Given the description of an element on the screen output the (x, y) to click on. 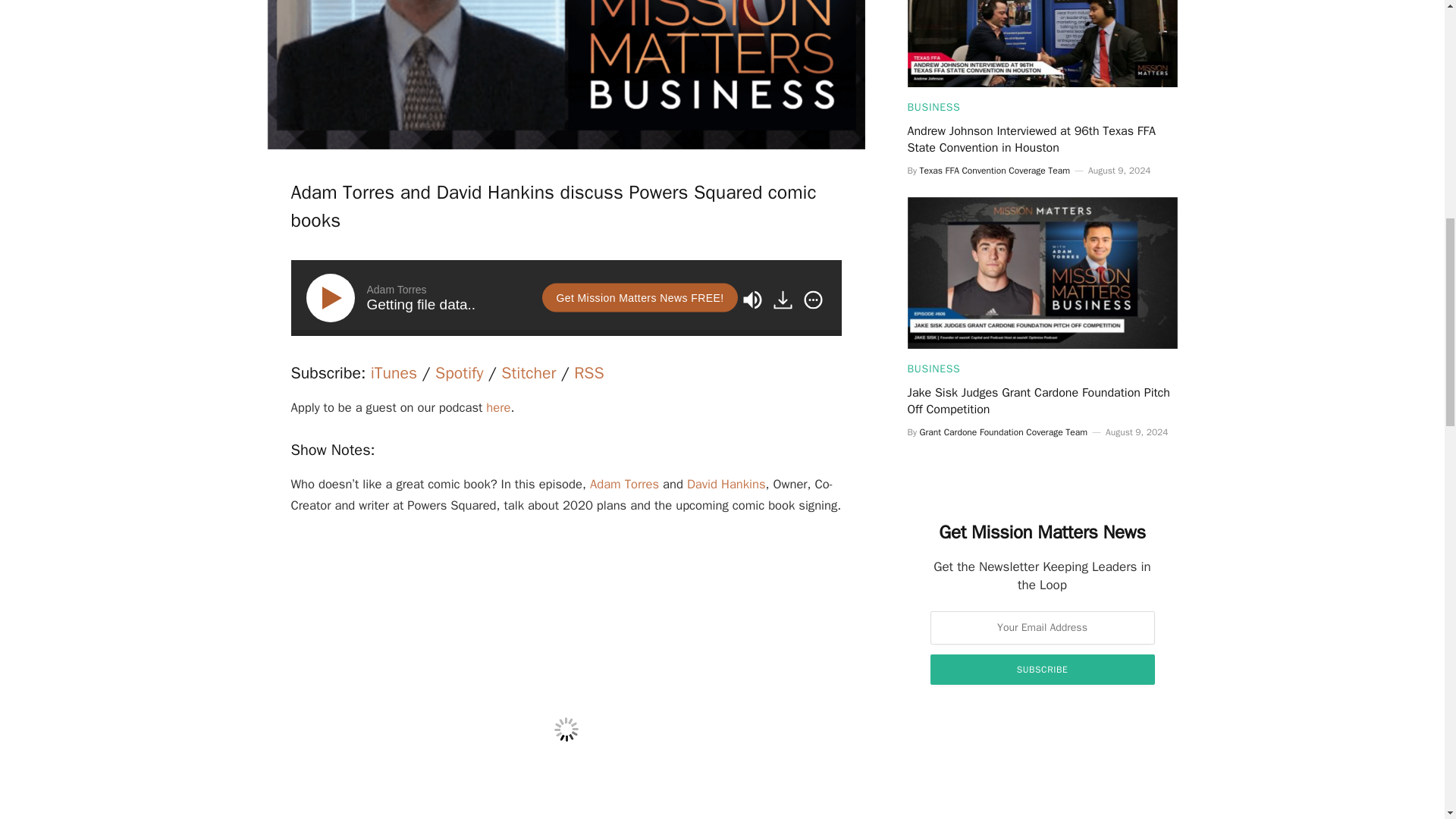
Subscribe (1042, 669)
Download (783, 299)
More (812, 299)
